Given the description of an element on the screen output the (x, y) to click on. 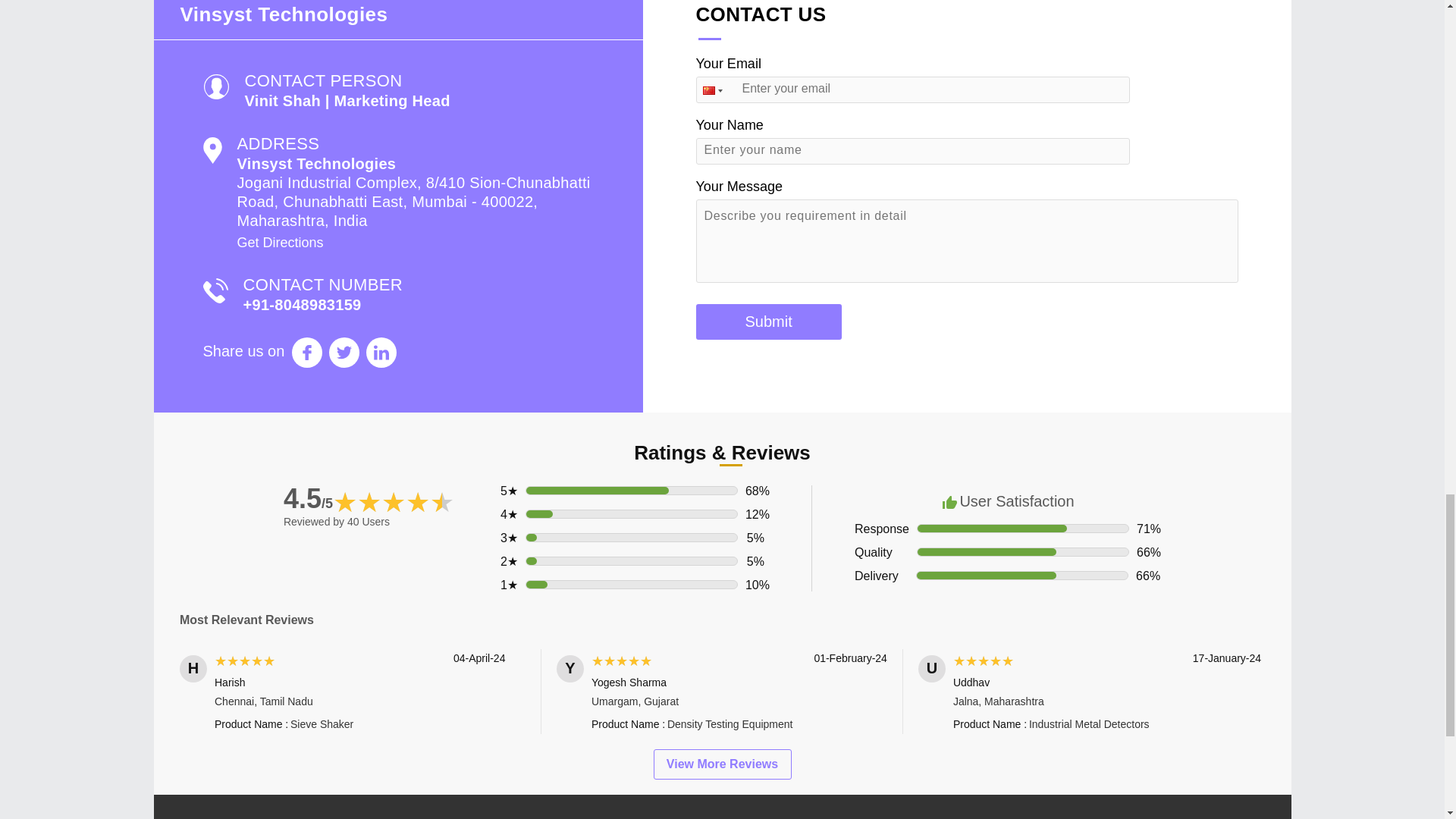
4.5 out of 5 Votes (308, 498)
Submit (768, 321)
